Given the description of an element on the screen output the (x, y) to click on. 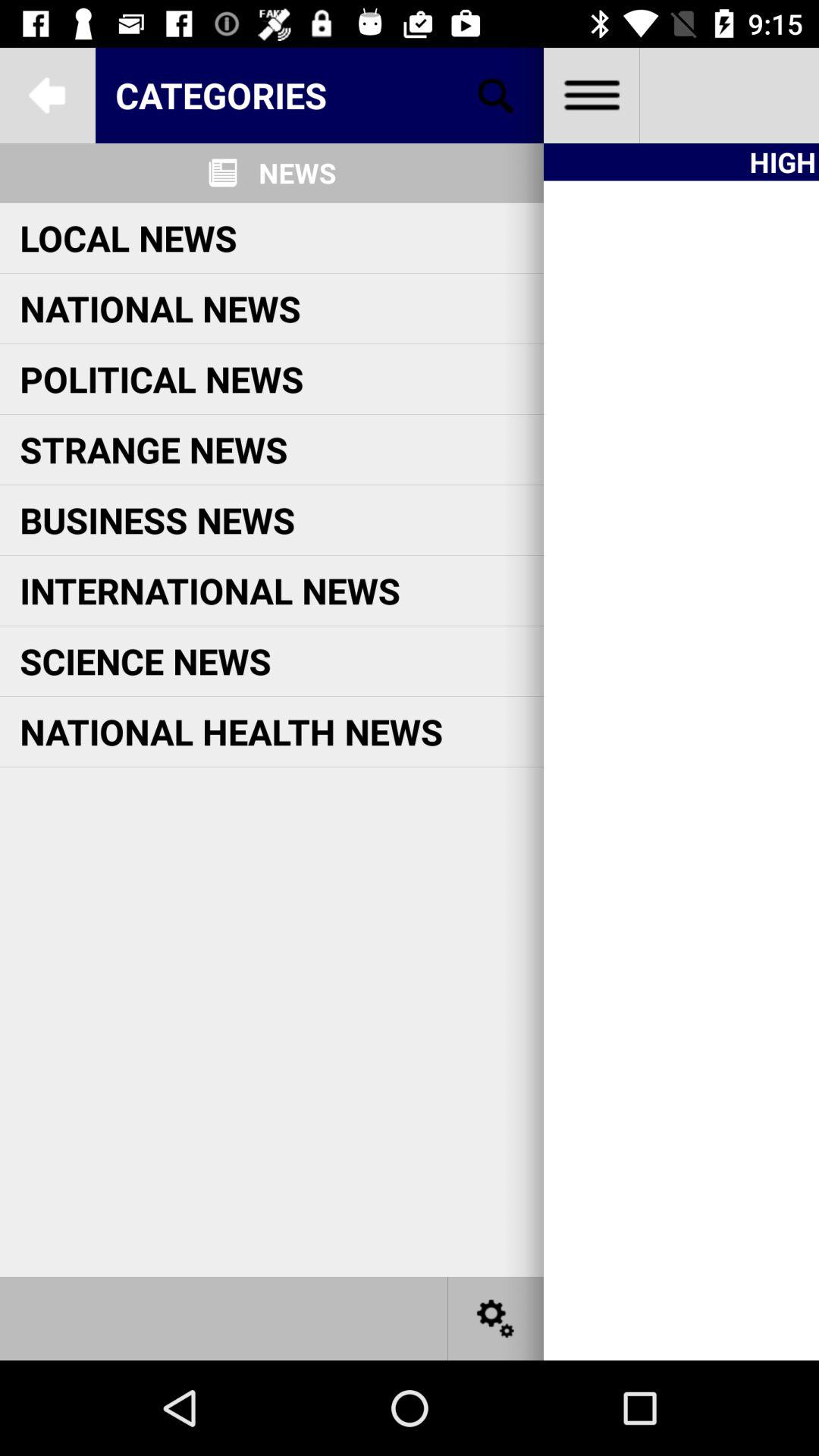
open settings page (495, 1318)
